Given the description of an element on the screen output the (x, y) to click on. 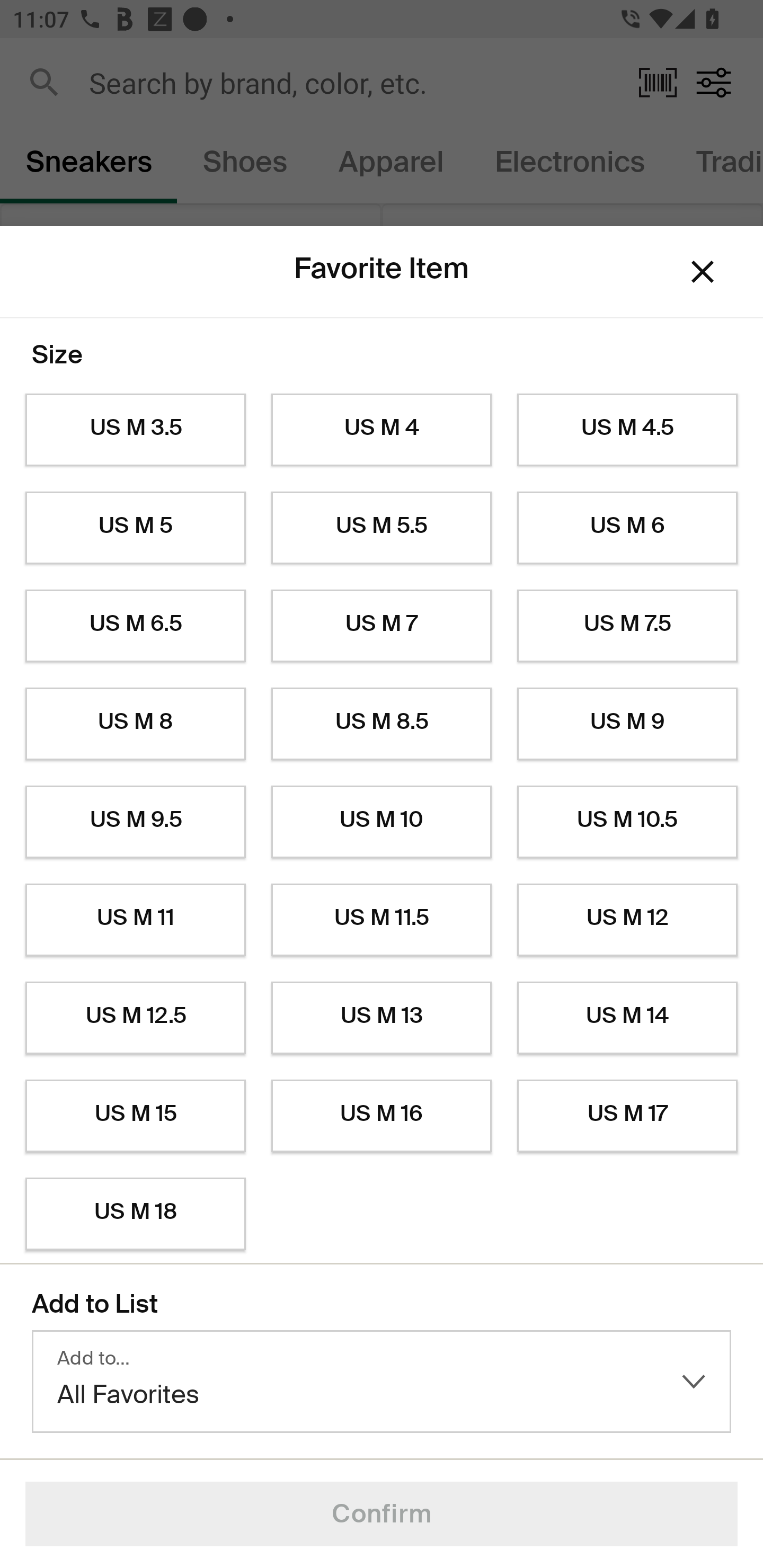
Dismiss (702, 271)
US M 3.5 (135, 430)
US M 4 (381, 430)
US M 4.5 (627, 430)
US M 5 (135, 527)
US M 5.5 (381, 527)
US M 6 (627, 527)
US M 6.5 (135, 626)
US M 7 (381, 626)
US M 7.5 (627, 626)
US M 8 (135, 724)
US M 8.5 (381, 724)
US M 9 (627, 724)
US M 9.5 (135, 822)
US M 10 (381, 822)
US M 10.5 (627, 822)
US M 11 (135, 919)
US M 11.5 (381, 919)
US M 12 (627, 919)
US M 12.5 (135, 1018)
US M 13 (381, 1018)
US M 14 (627, 1018)
US M 15 (135, 1116)
US M 16 (381, 1116)
US M 17 (627, 1116)
US M 18 (135, 1214)
Add to… All Favorites (381, 1381)
Confirm (381, 1513)
